Given the description of an element on the screen output the (x, y) to click on. 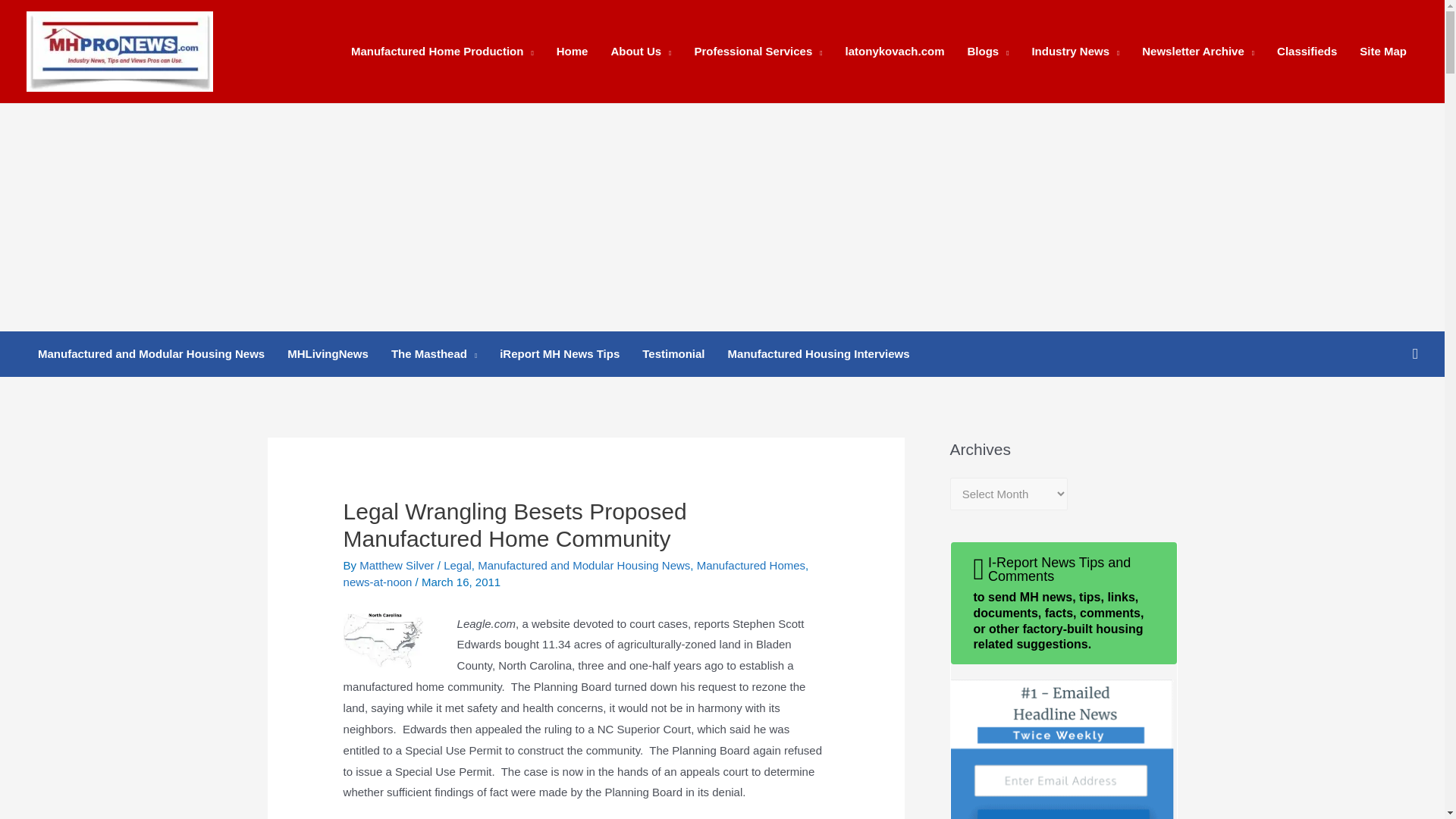
Newsletter Archive (1198, 51)
About Us (640, 51)
Professional Services (757, 51)
Industry News (1075, 51)
latonykovach.com (895, 51)
Blogs (987, 51)
View all posts by Matthew Silver (398, 564)
Home (571, 51)
Site Map (1383, 51)
Manufactured Home Production (441, 51)
